Given the description of an element on the screen output the (x, y) to click on. 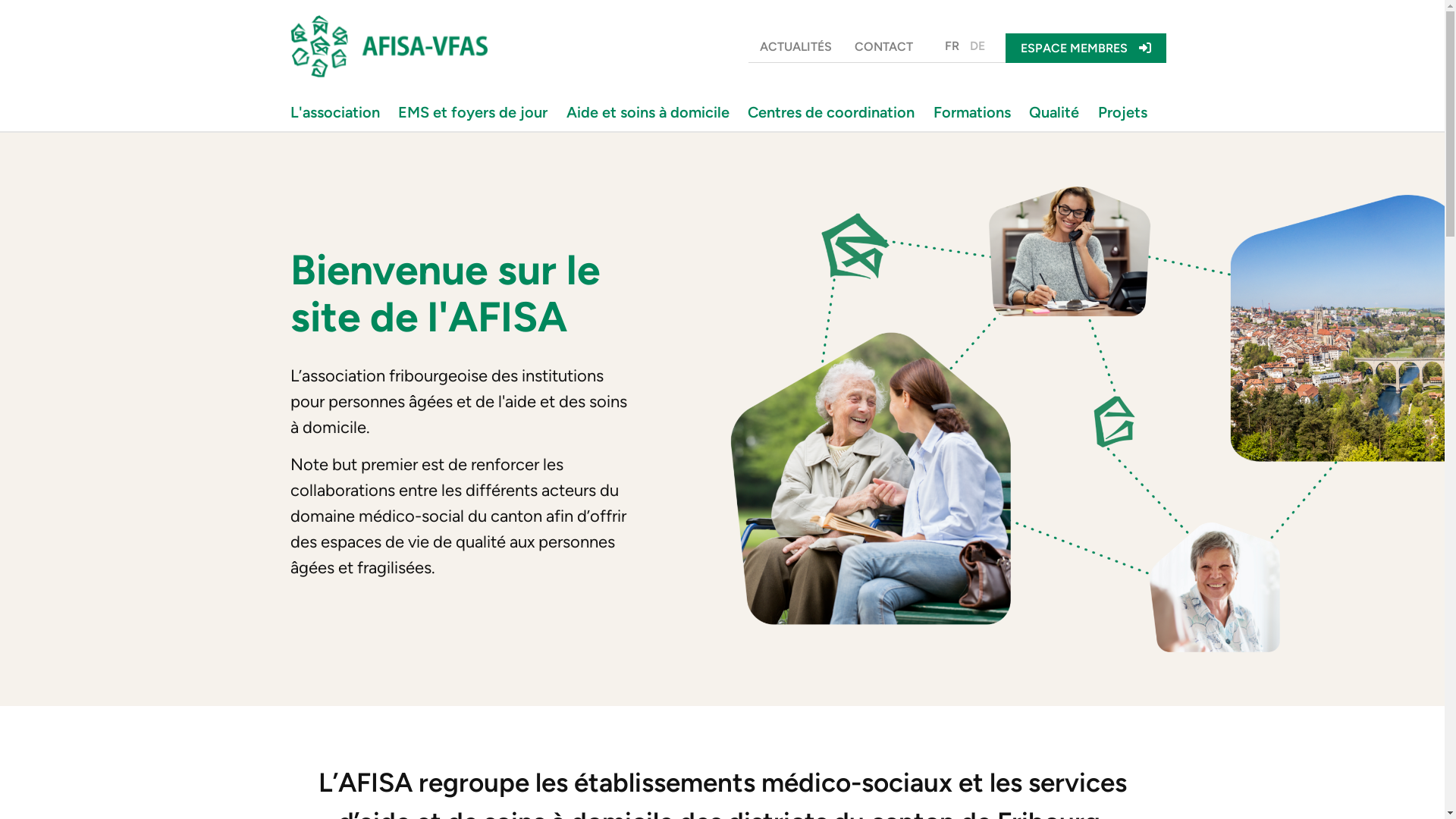
EMS et foyers de jour Element type: text (476, 112)
Formations Element type: text (975, 112)
ESPACE MEMBRES Element type: text (1085, 47)
Aller au contenu principal Element type: text (0, 0)
Centres de coordination Element type: text (834, 112)
Projets Element type: text (1125, 112)
FR Element type: text (950, 46)
L'association Element type: text (338, 112)
DE Element type: text (977, 46)
CONTACT Element type: text (883, 46)
